Given the description of an element on the screen output the (x, y) to click on. 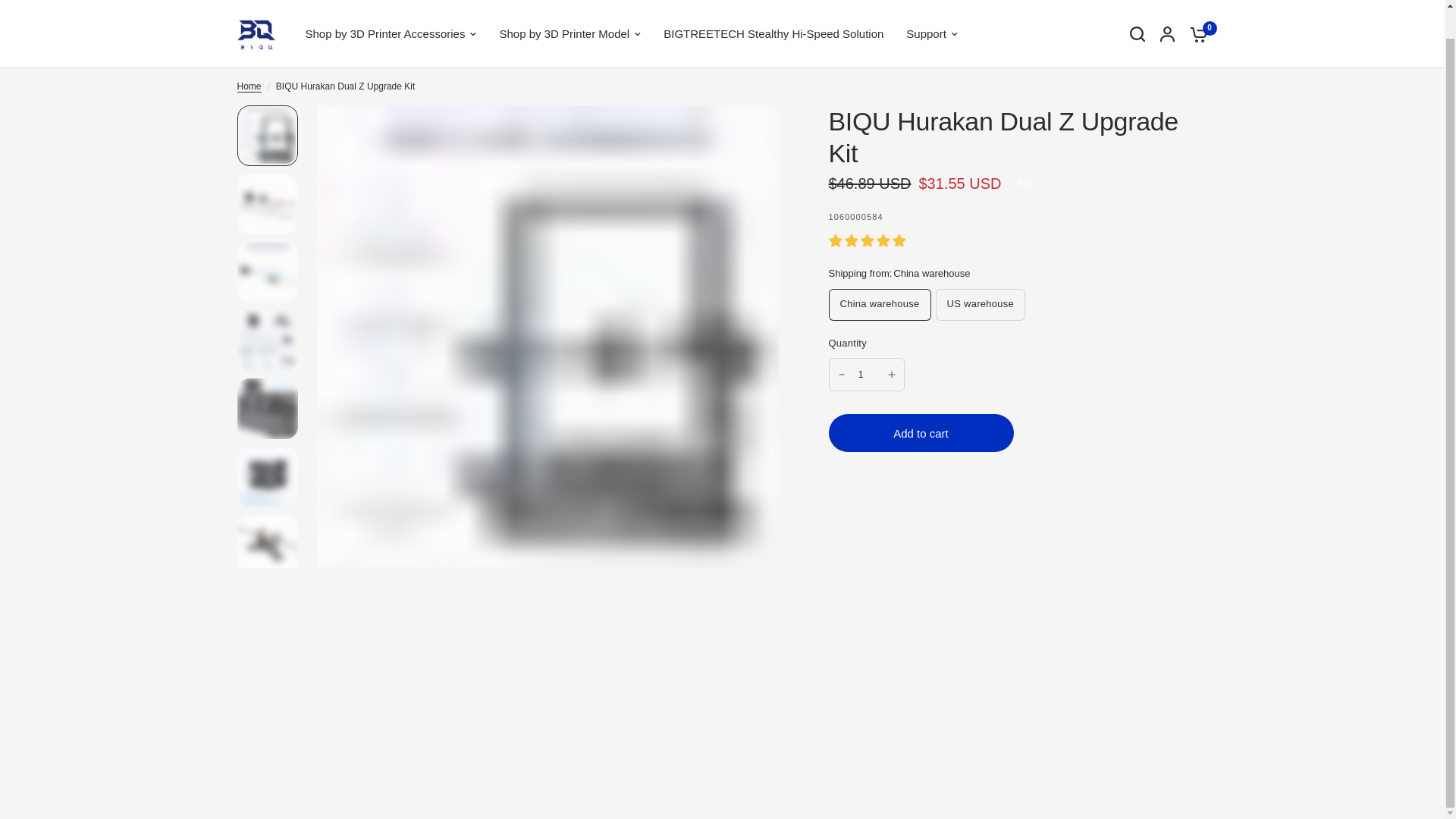
Shop by 3D Printer Accessories (390, 34)
